Given the description of an element on the screen output the (x, y) to click on. 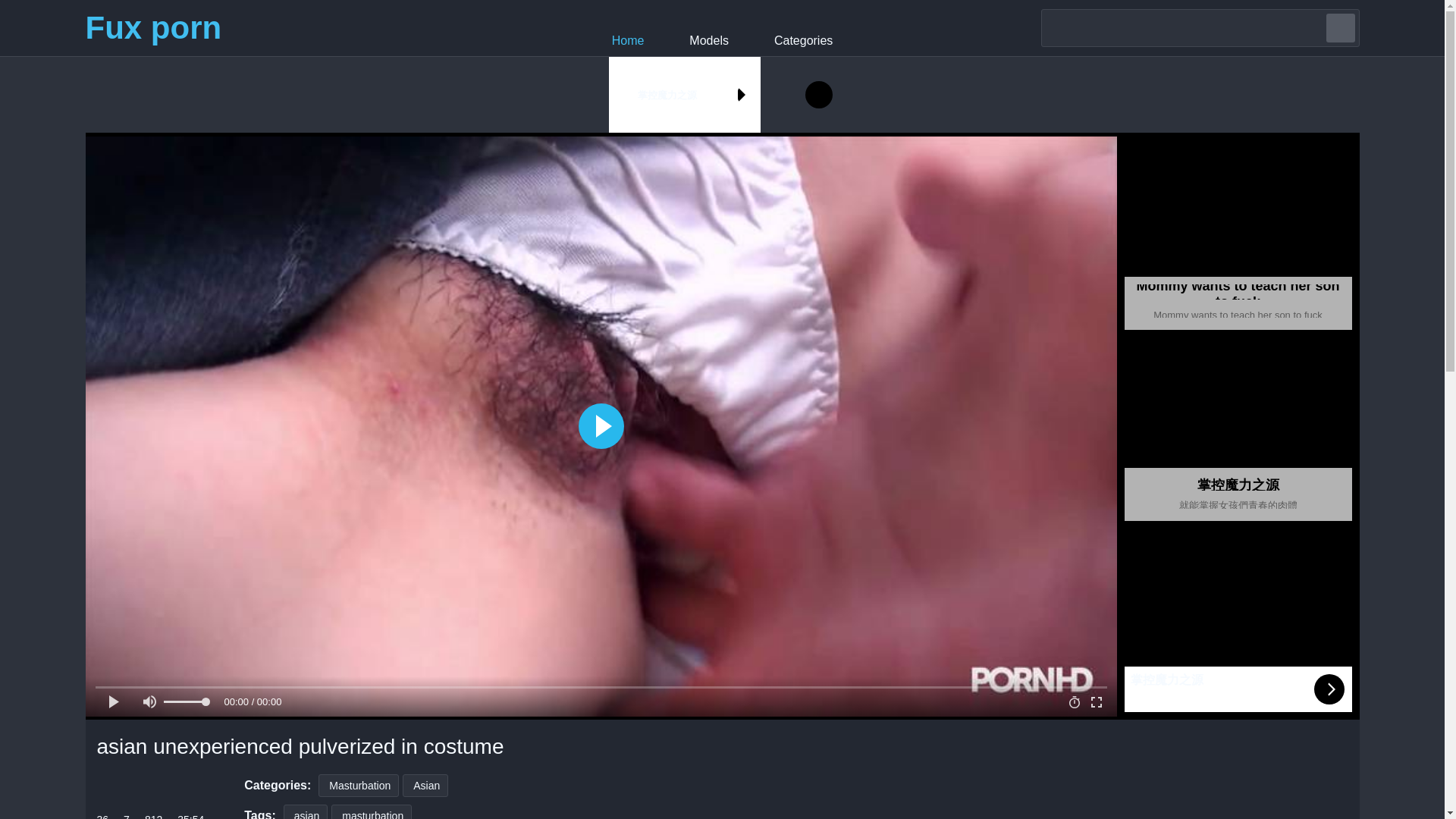
masturbation (371, 811)
Categories (803, 27)
Masturbation (358, 784)
asian (305, 811)
Fux porn (152, 27)
Search (1339, 27)
Models (708, 27)
Asian (425, 784)
